Given the description of an element on the screen output the (x, y) to click on. 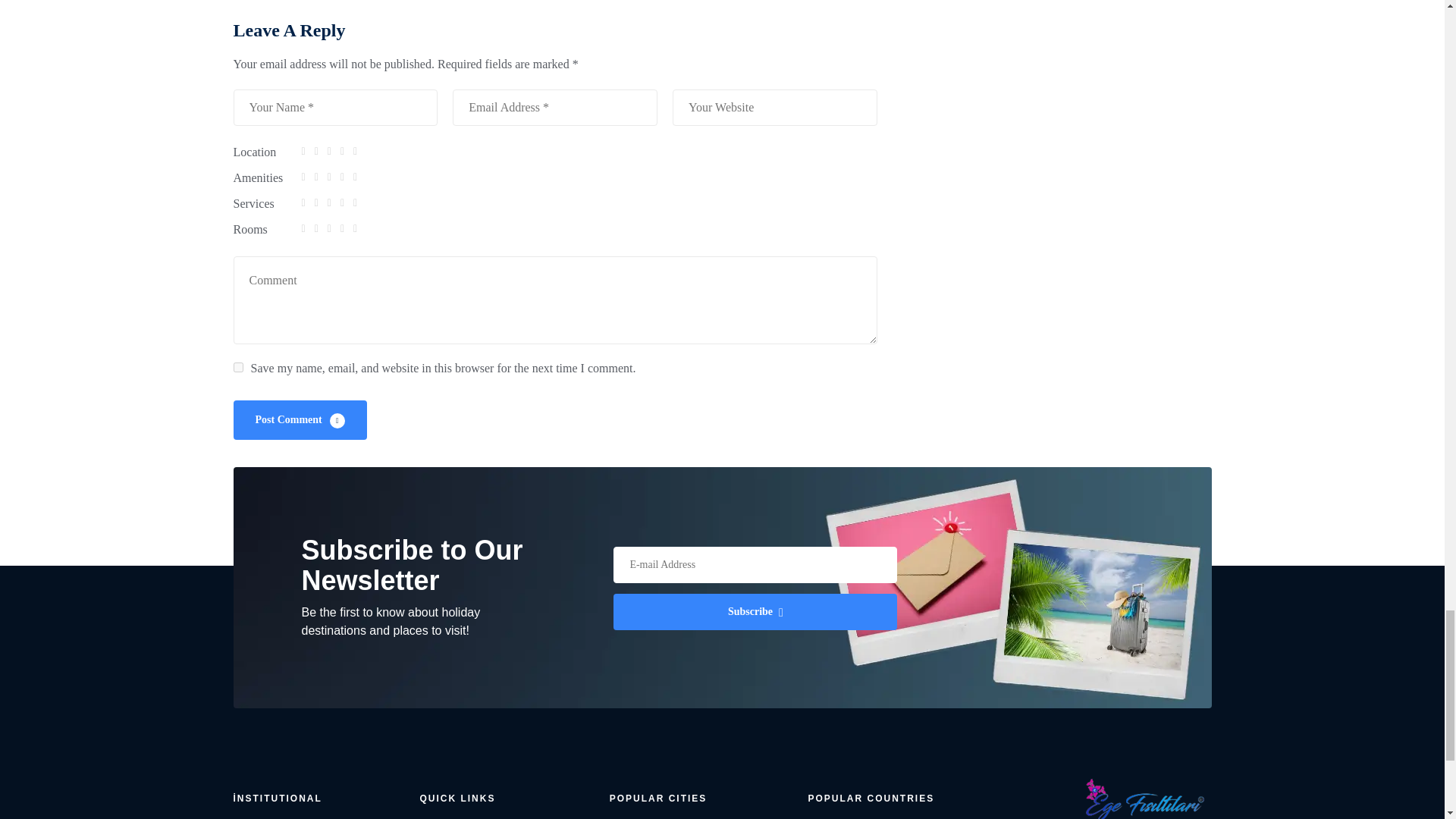
yes (237, 367)
